Given the description of an element on the screen output the (x, y) to click on. 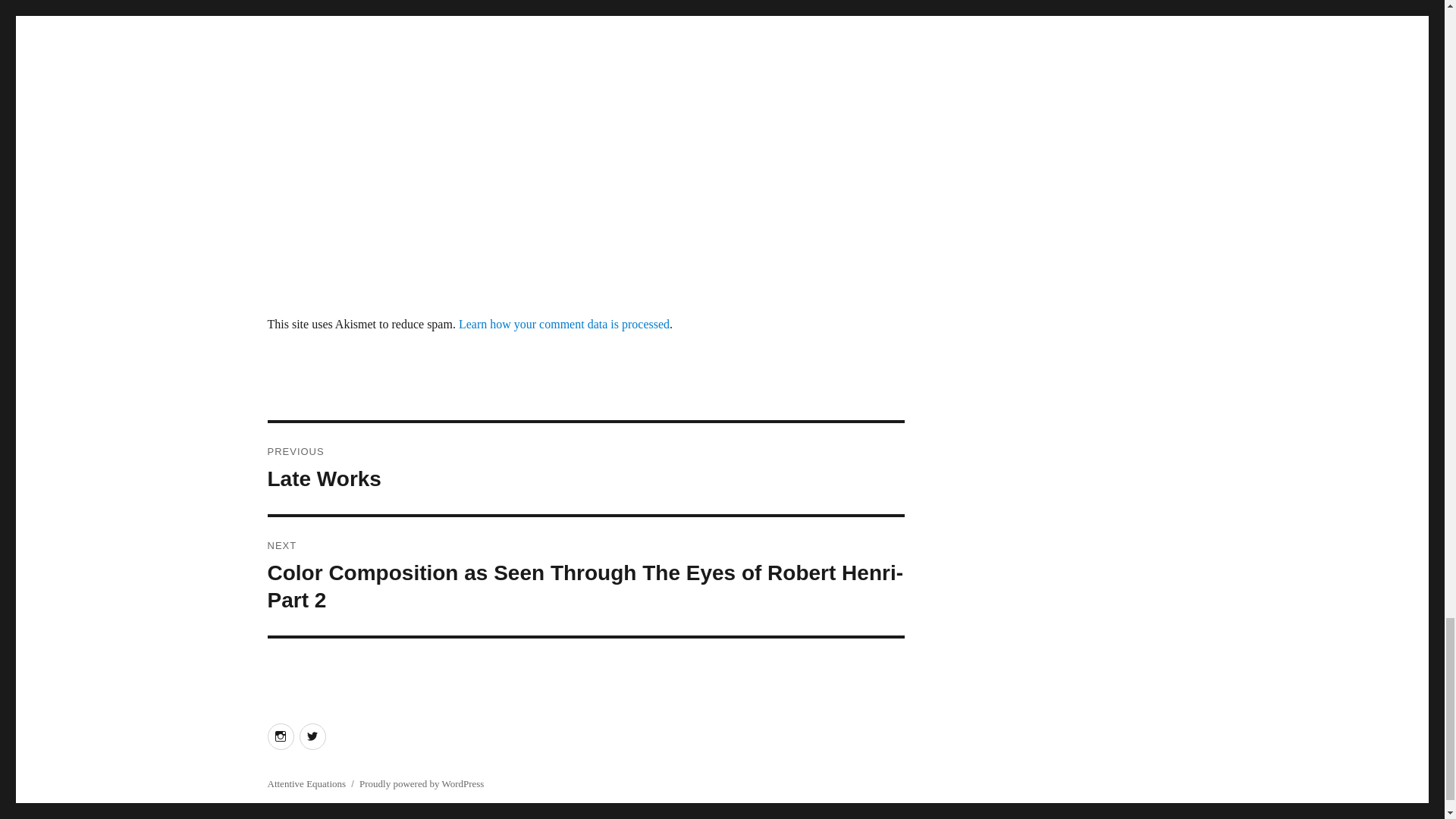
Learn how your comment data is processed (563, 323)
Comment Form (585, 468)
